Given the description of an element on the screen output the (x, y) to click on. 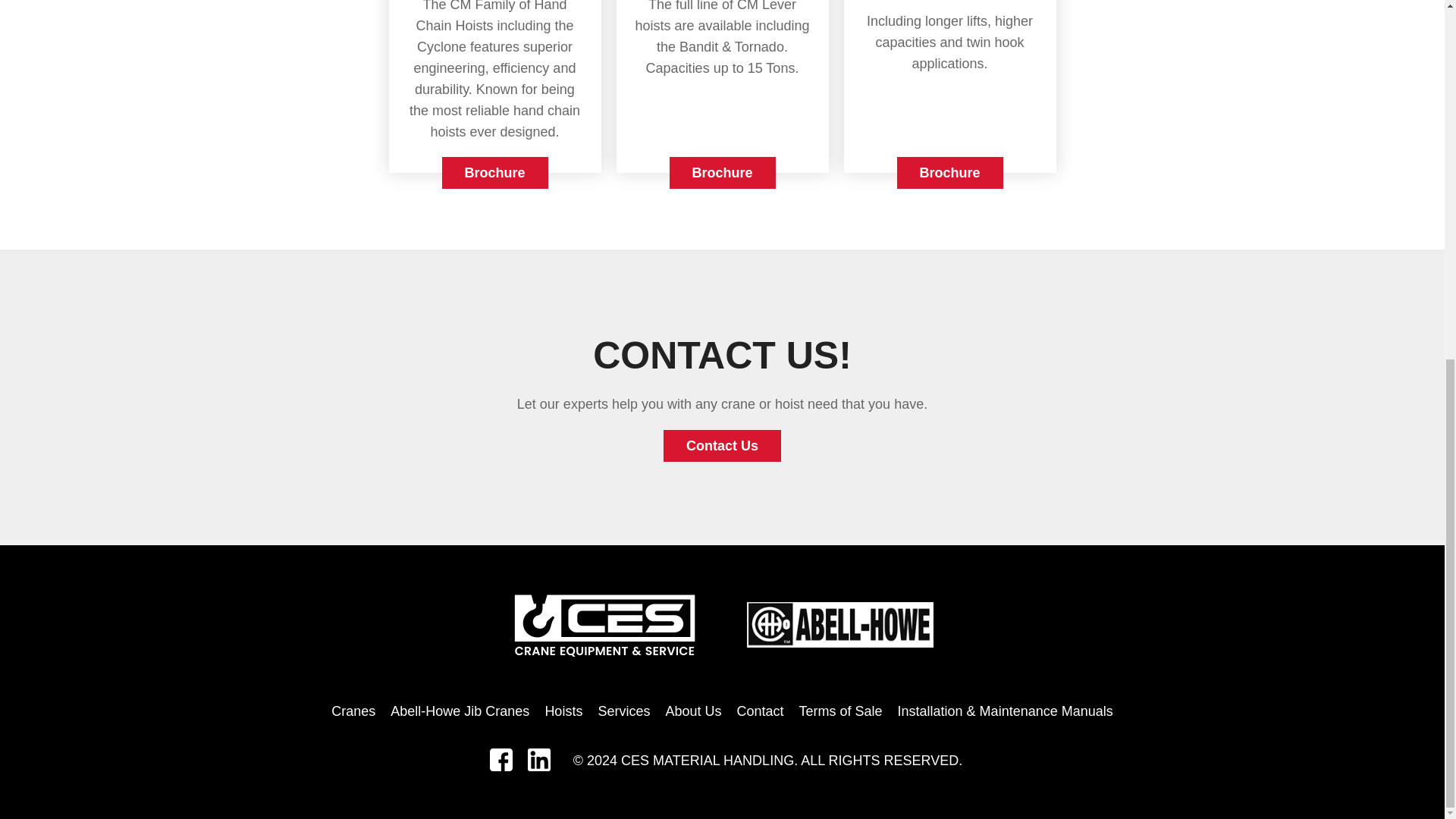
Facebook Social Link (500, 766)
Cranes (353, 711)
Linkedin Social Link (538, 766)
Brochure (949, 173)
Brochure (494, 173)
Contact Us (721, 445)
Brochure (721, 173)
